Given the description of an element on the screen output the (x, y) to click on. 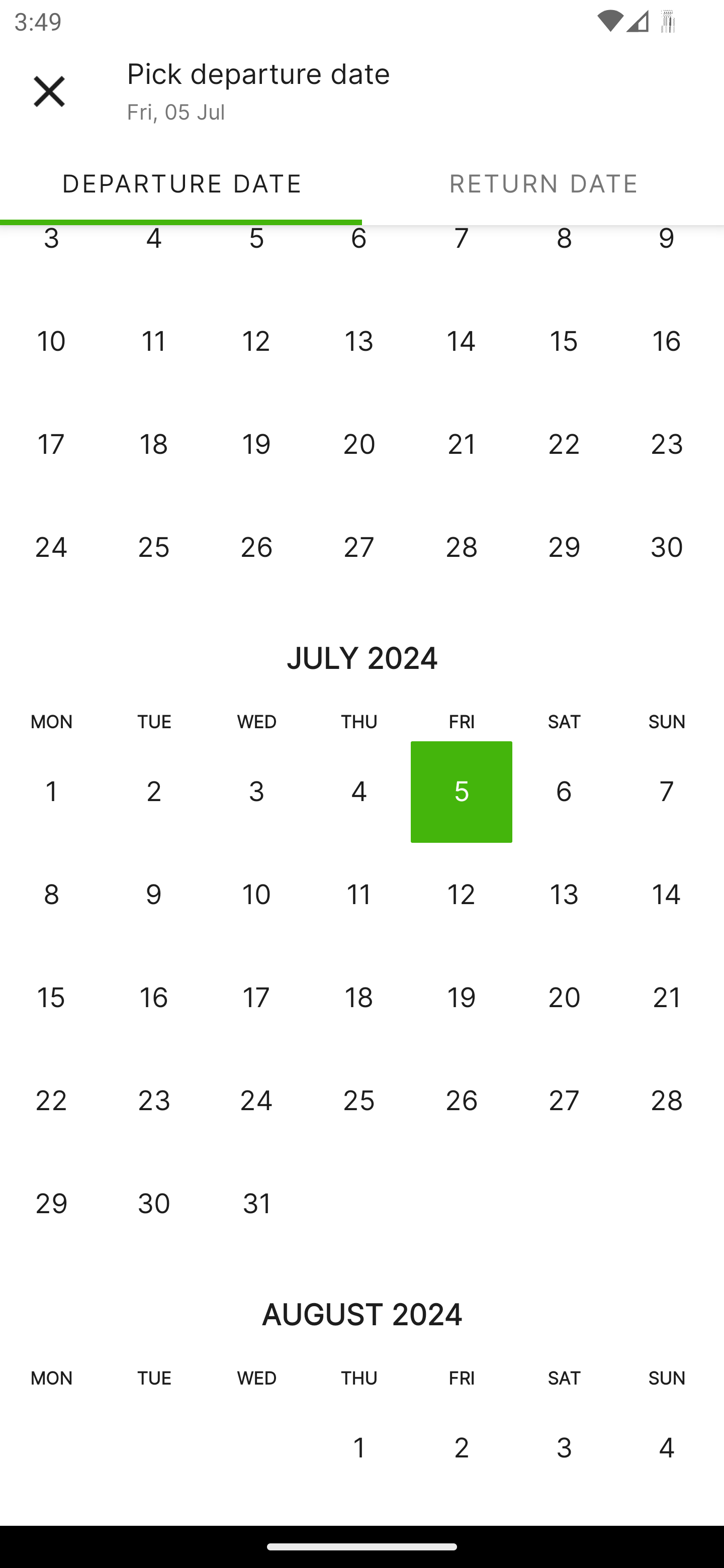
Return Date RETURN DATE (543, 183)
